Given the description of an element on the screen output the (x, y) to click on. 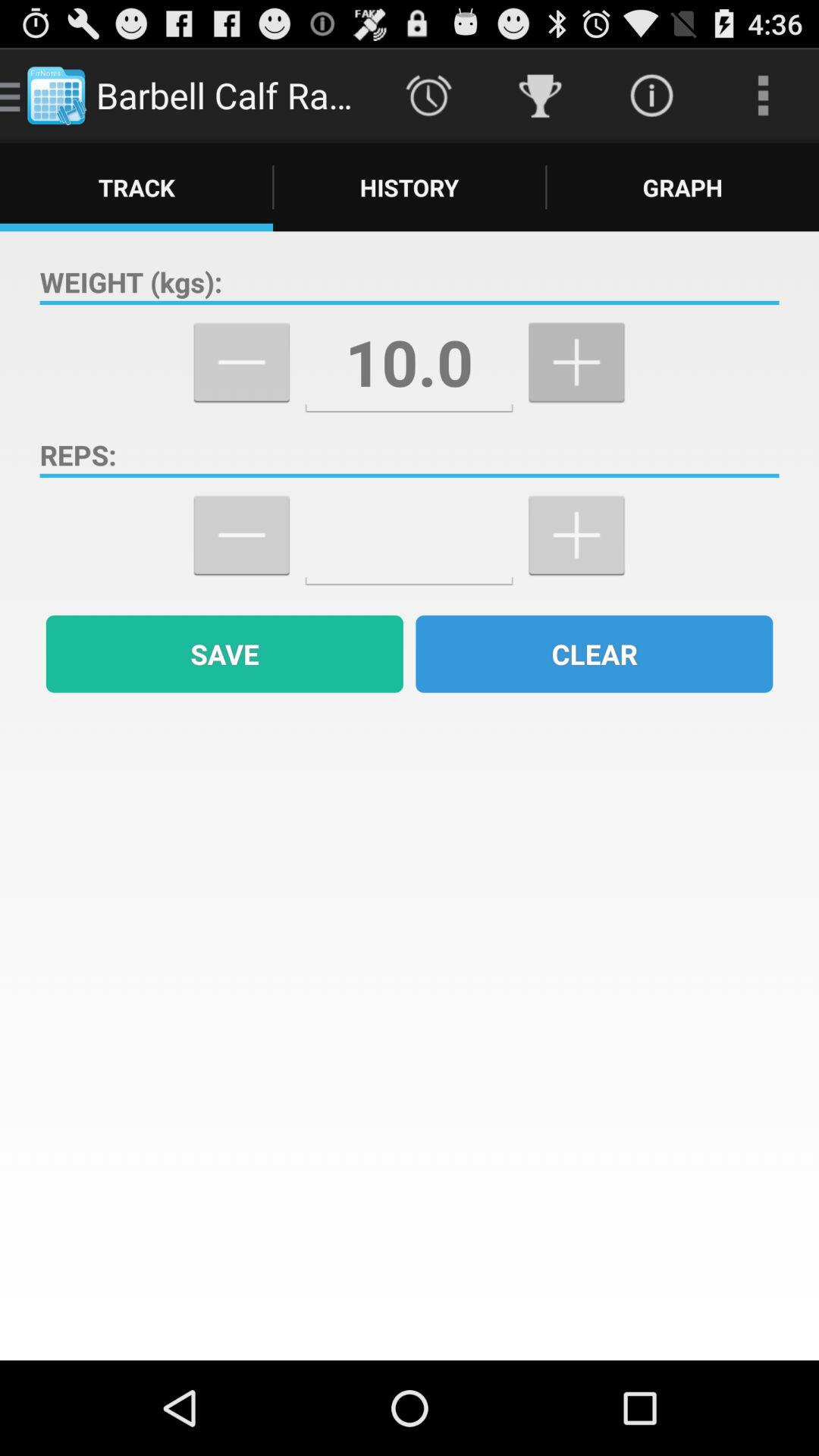
enter number of repetitions (408, 535)
